Given the description of an element on the screen output the (x, y) to click on. 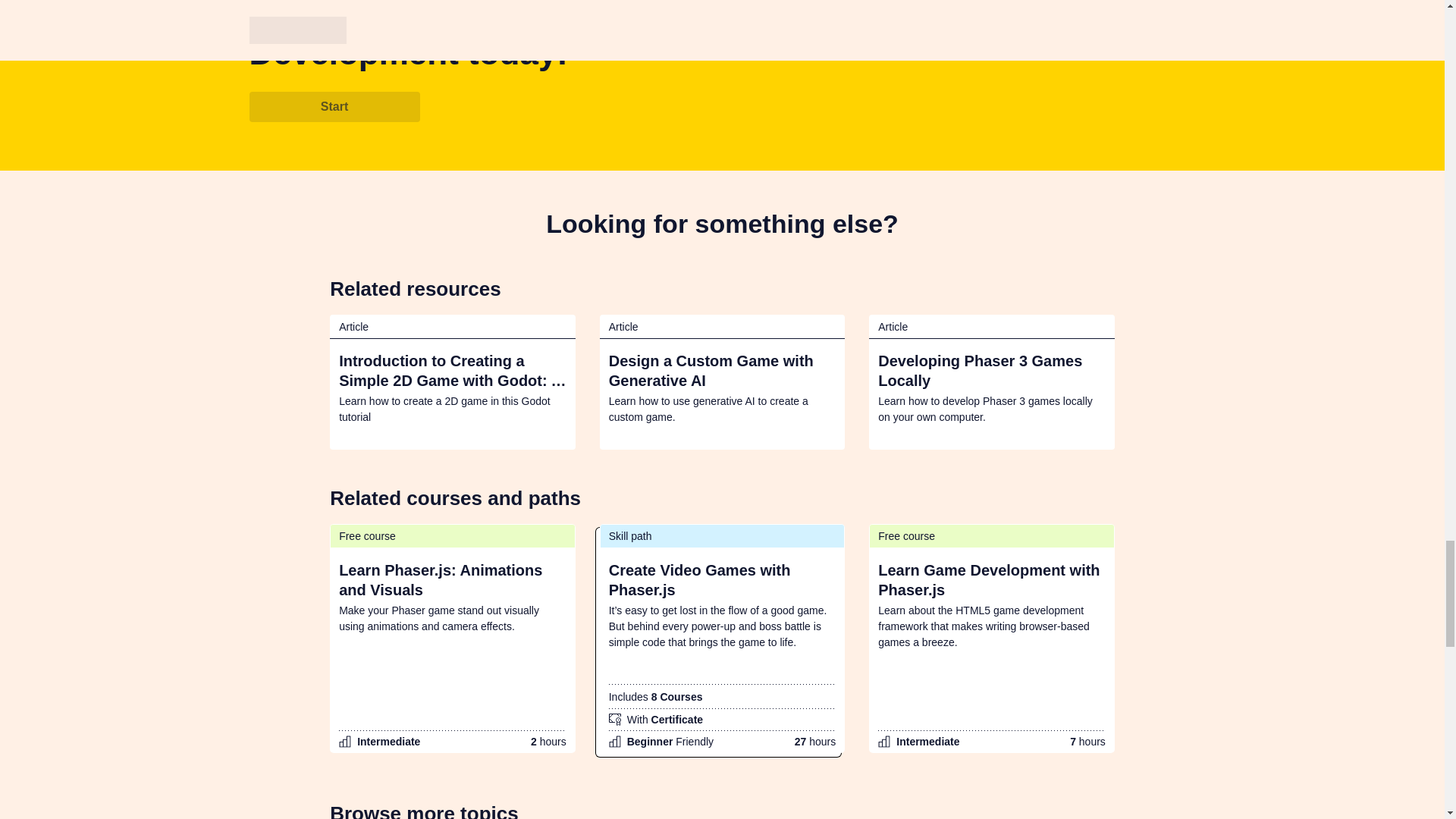
Start (333, 106)
